Given the description of an element on the screen output the (x, y) to click on. 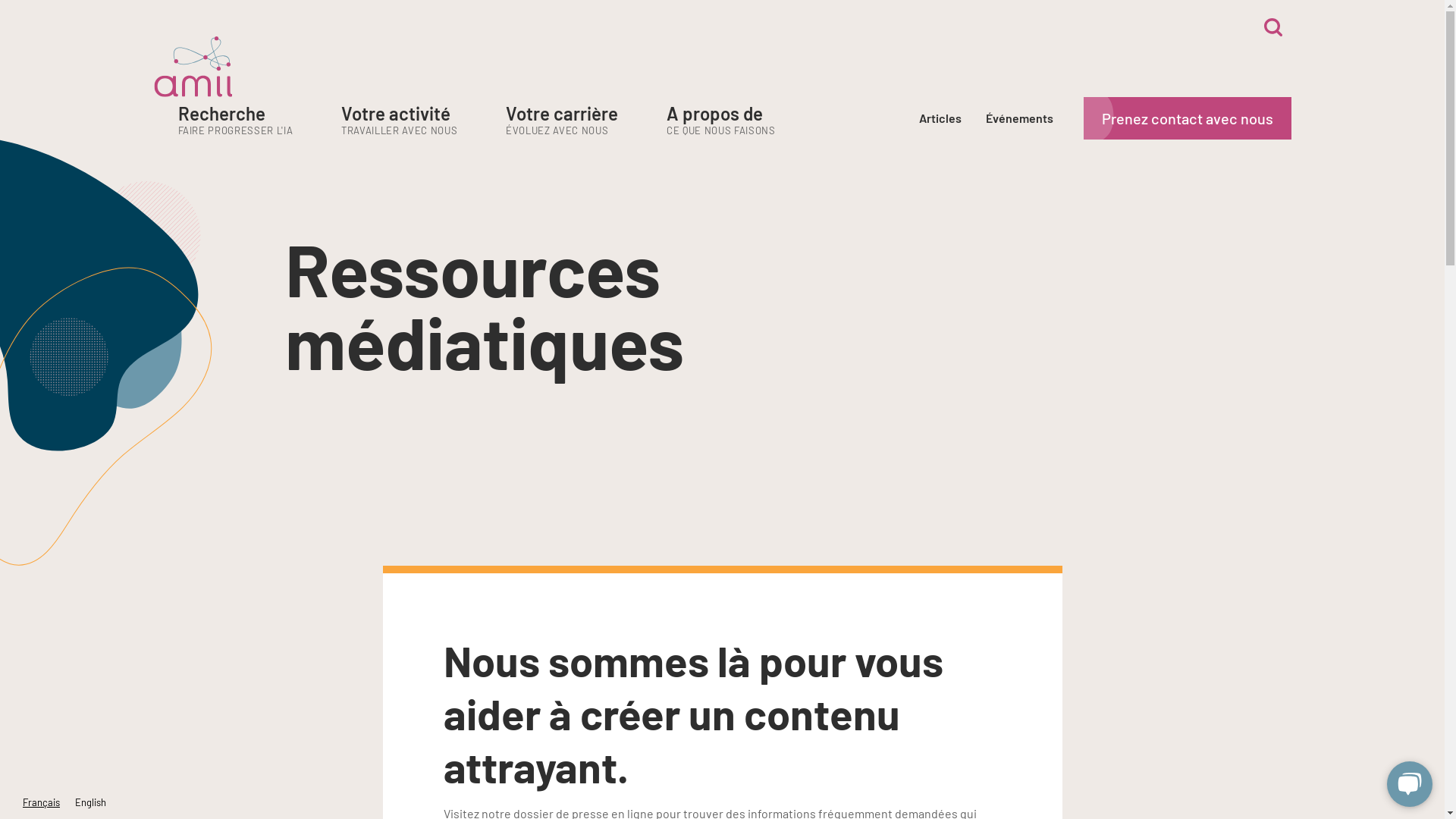
Articles Element type: text (940, 117)
Recherche
FAIRE PROGRESSER L'IA Element type: text (234, 121)
English Element type: text (90, 802)
Prenez contact avec nous Element type: text (1186, 118)
